Given the description of an element on the screen output the (x, y) to click on. 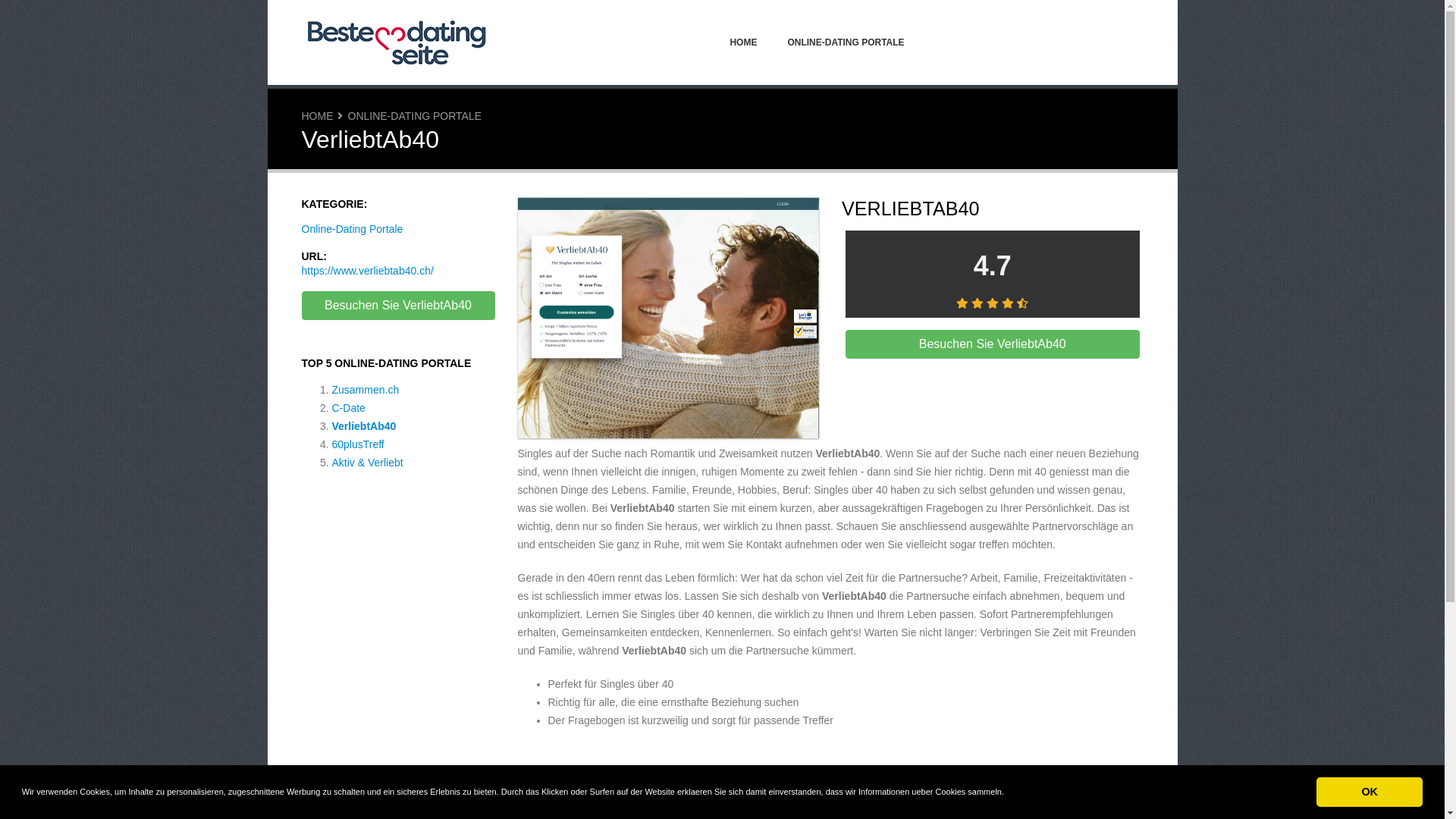
Go to top Element type: hover (1403, 785)
bestedatingseite.ch Element type: hover (396, 42)
OK Element type: text (1369, 791)
Besuchen Sie VerliebtAb40 Element type: text (829, 779)
Zusammen.ch Element type: text (365, 389)
Besuchen Sie VerliebtAb40 Element type: hover (668, 319)
Besuchen Sie VerliebtAb40 Element type: text (398, 305)
ONLINE-DATING PORTALE Element type: text (845, 41)
Online-Dating Portale Element type: text (352, 228)
ONLINE-DATING PORTALE Element type: text (414, 115)
Aktiv & Verliebt Element type: text (367, 462)
Bewertung: 4.7 Element type: hover (992, 303)
HOME Element type: text (742, 41)
C-Date Element type: text (348, 407)
60plusTreff Element type: text (358, 444)
https://www.verliebtab40.ch/ Element type: text (367, 270)
Besuchen Sie VerliebtAb40 Element type: text (992, 343)
VerliebtAb40 Element type: text (364, 426)
HOME Element type: text (317, 115)
